Given the description of an element on the screen output the (x, y) to click on. 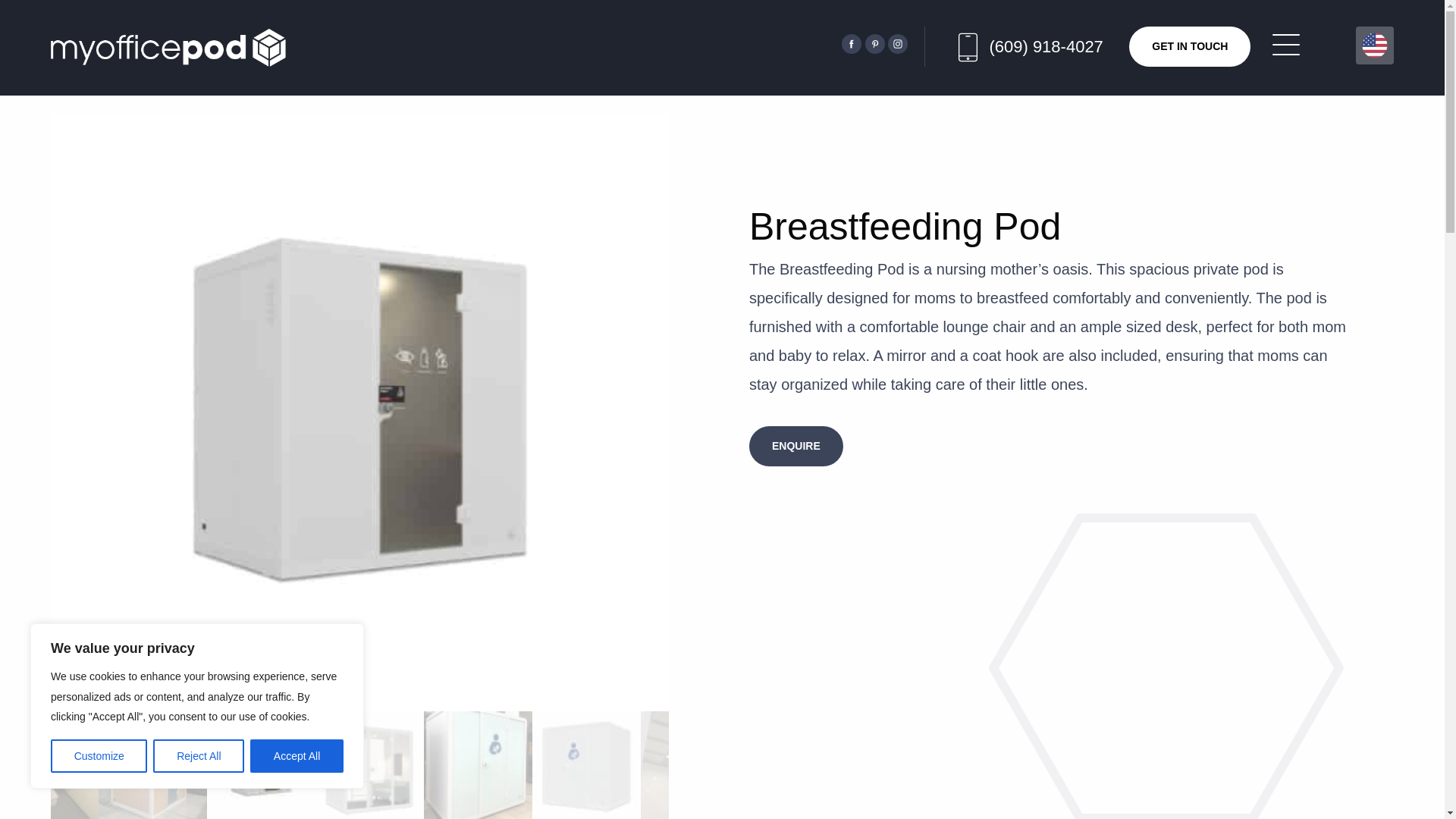
Accept All (296, 756)
Reject All (198, 756)
Customize (98, 756)
